Given the description of an element on the screen output the (x, y) to click on. 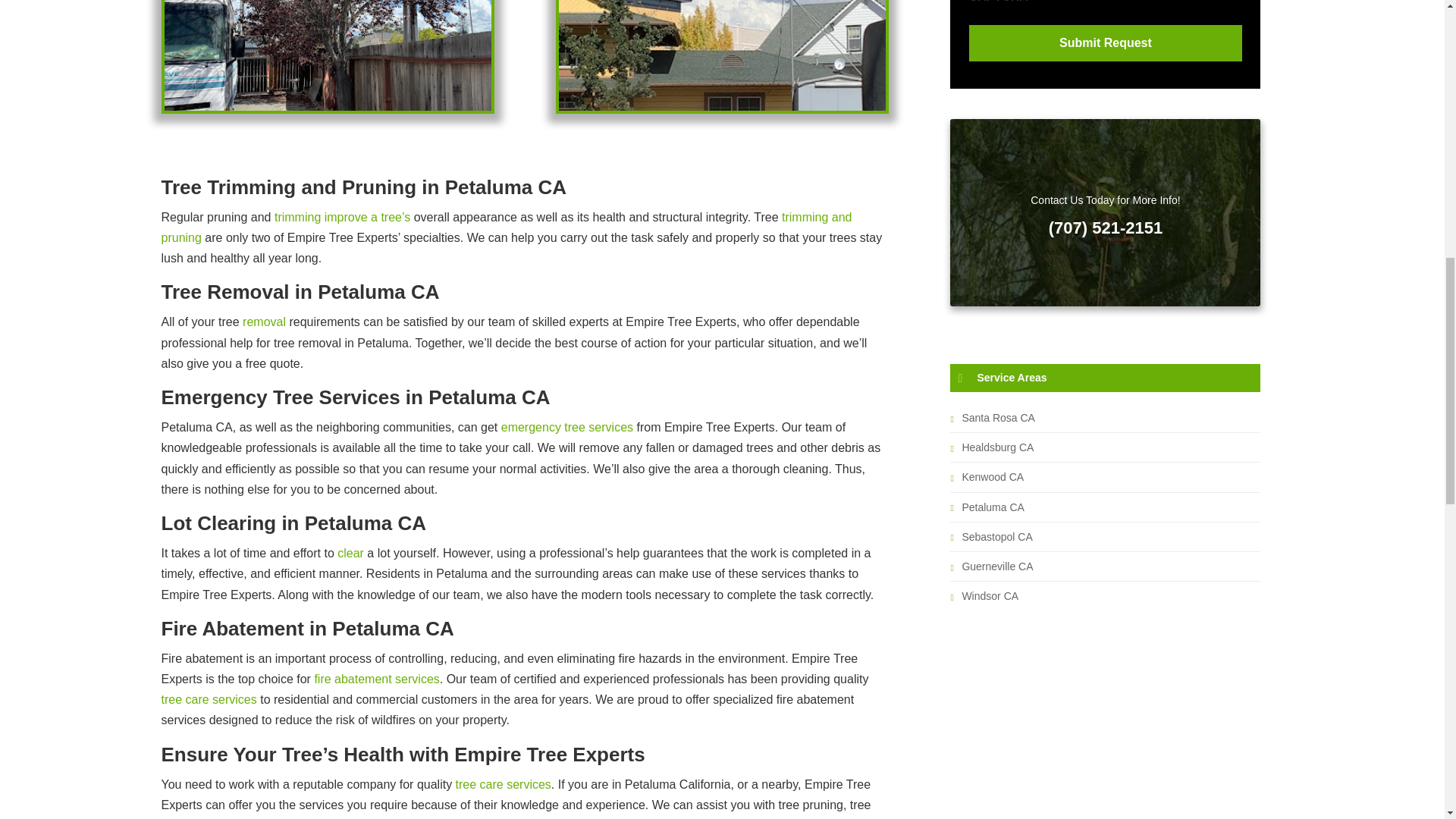
Submit Request (1106, 43)
Tree Services Petaluma CA (722, 106)
Tree Removal Petaluma CA (326, 106)
The Tree Care Pros You Can Trust in Petaluma CA 2 (722, 55)
The Tree Care Pros You Can Trust in Petaluma CA 1 (326, 55)
